Given the description of an element on the screen output the (x, y) to click on. 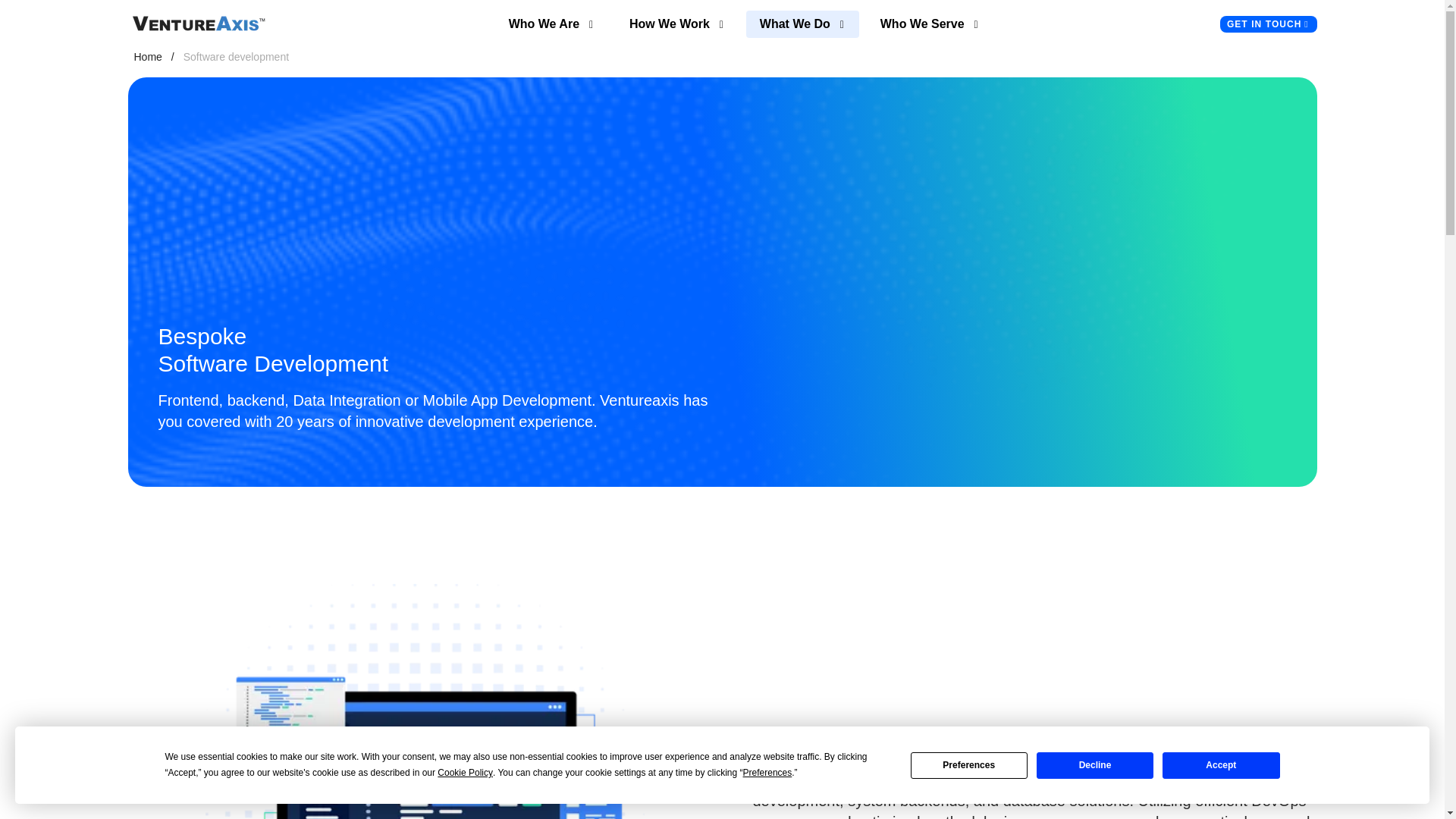
GET IN TOUCH (1268, 23)
How We Work (676, 23)
Who We Serve (929, 23)
Who We Are (551, 23)
Accept (1220, 765)
Software development (235, 56)
Preferences (969, 765)
Cookie Policy (465, 772)
Decline (1094, 765)
Home (147, 56)
What We Do (802, 23)
Preferences (767, 772)
